Given the description of an element on the screen output the (x, y) to click on. 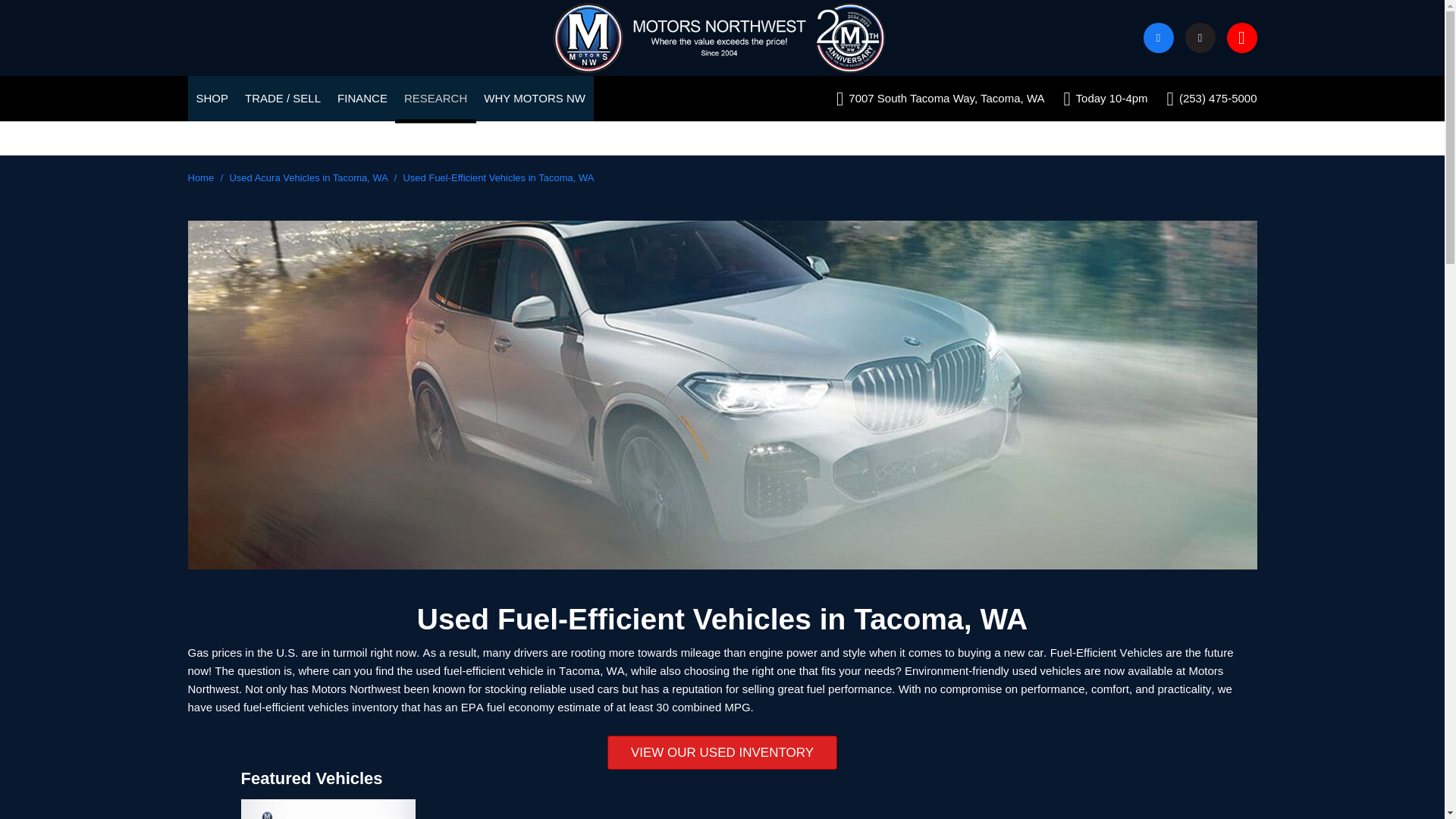
FINANCE (362, 98)
SHOP (211, 98)
Motors Northwest (722, 38)
RESEARCH (435, 98)
2021 Mazda Mazda6 Carbon Edition (327, 809)
